Given the description of an element on the screen output the (x, y) to click on. 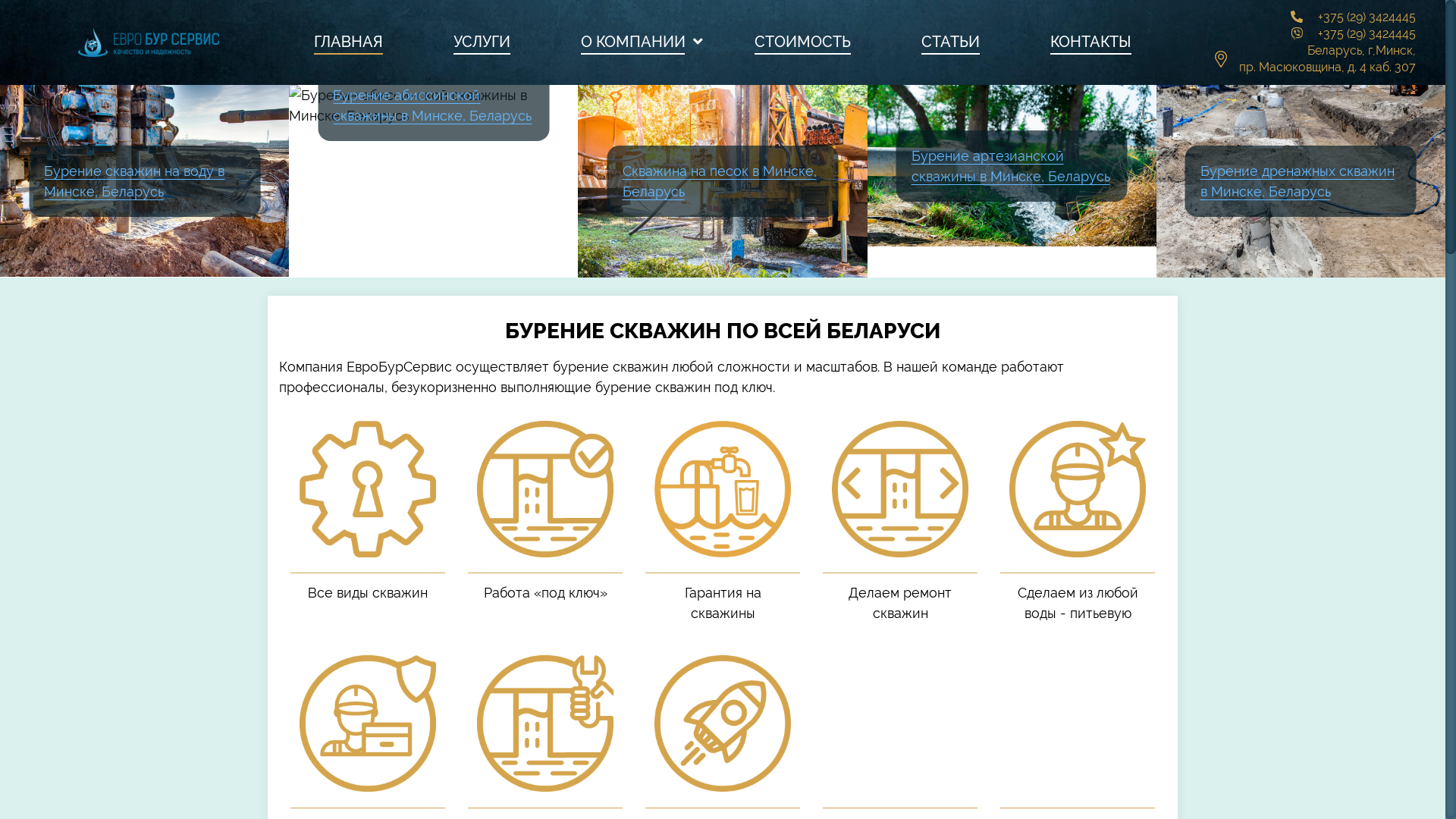
+375 (29) 3424445 Element type: text (1366, 33)
+375 (29) 3424445 Element type: text (1366, 16)
